Given the description of an element on the screen output the (x, y) to click on. 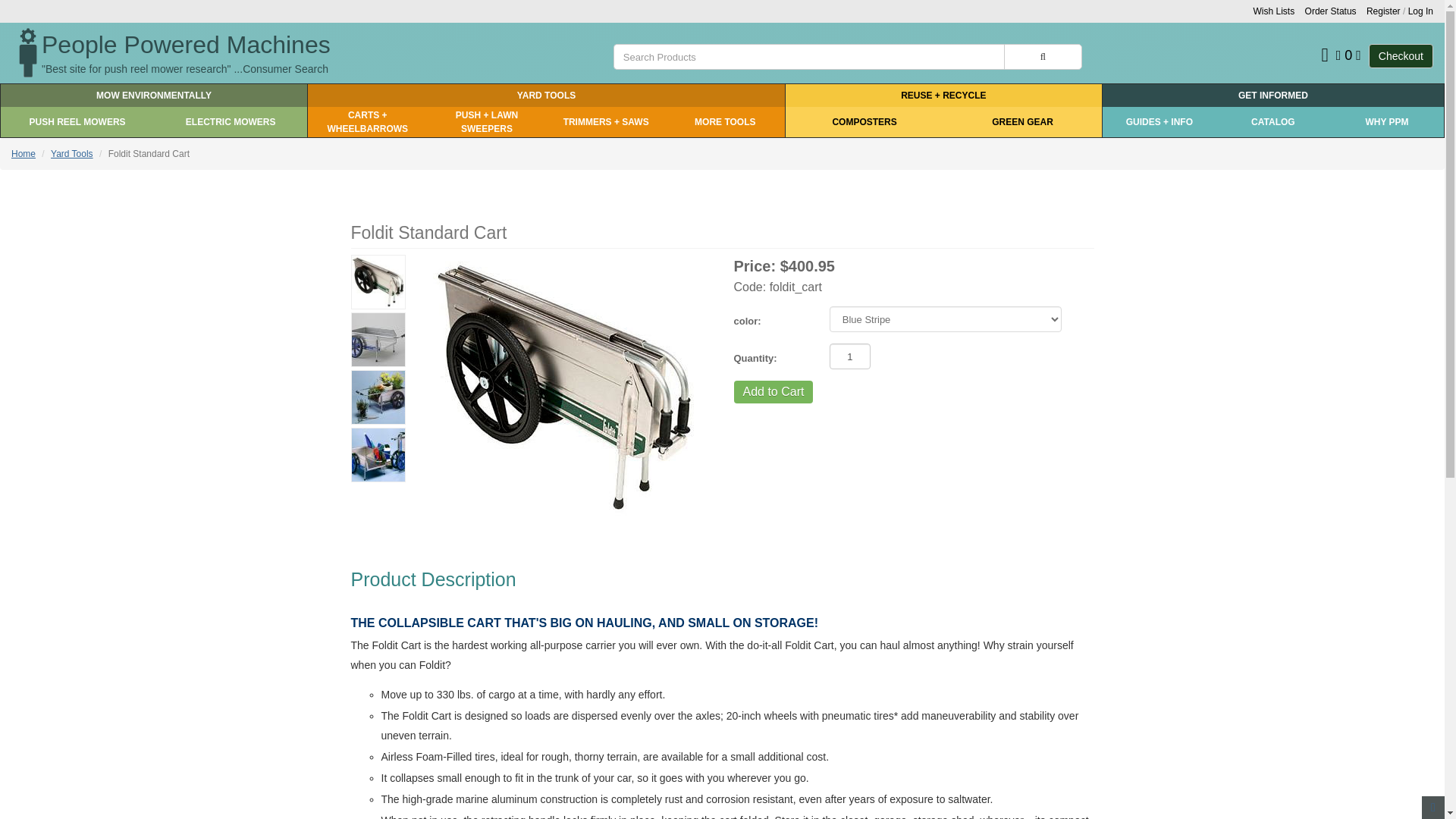
1 (849, 356)
Register (1383, 10)
MOW ENVIRONMENTALLY (154, 95)
0 (1348, 55)
YARD TOOLS (545, 95)
Log In (1419, 10)
Quantity (769, 355)
Order Status (1330, 10)
color: (769, 318)
Checkout (1400, 55)
PUSH REEL MOWERS (77, 122)
Foldit Standard Cart (564, 387)
Wish Lists (1274, 10)
ELECTRIC MOWERS (230, 122)
